Given the description of an element on the screen output the (x, y) to click on. 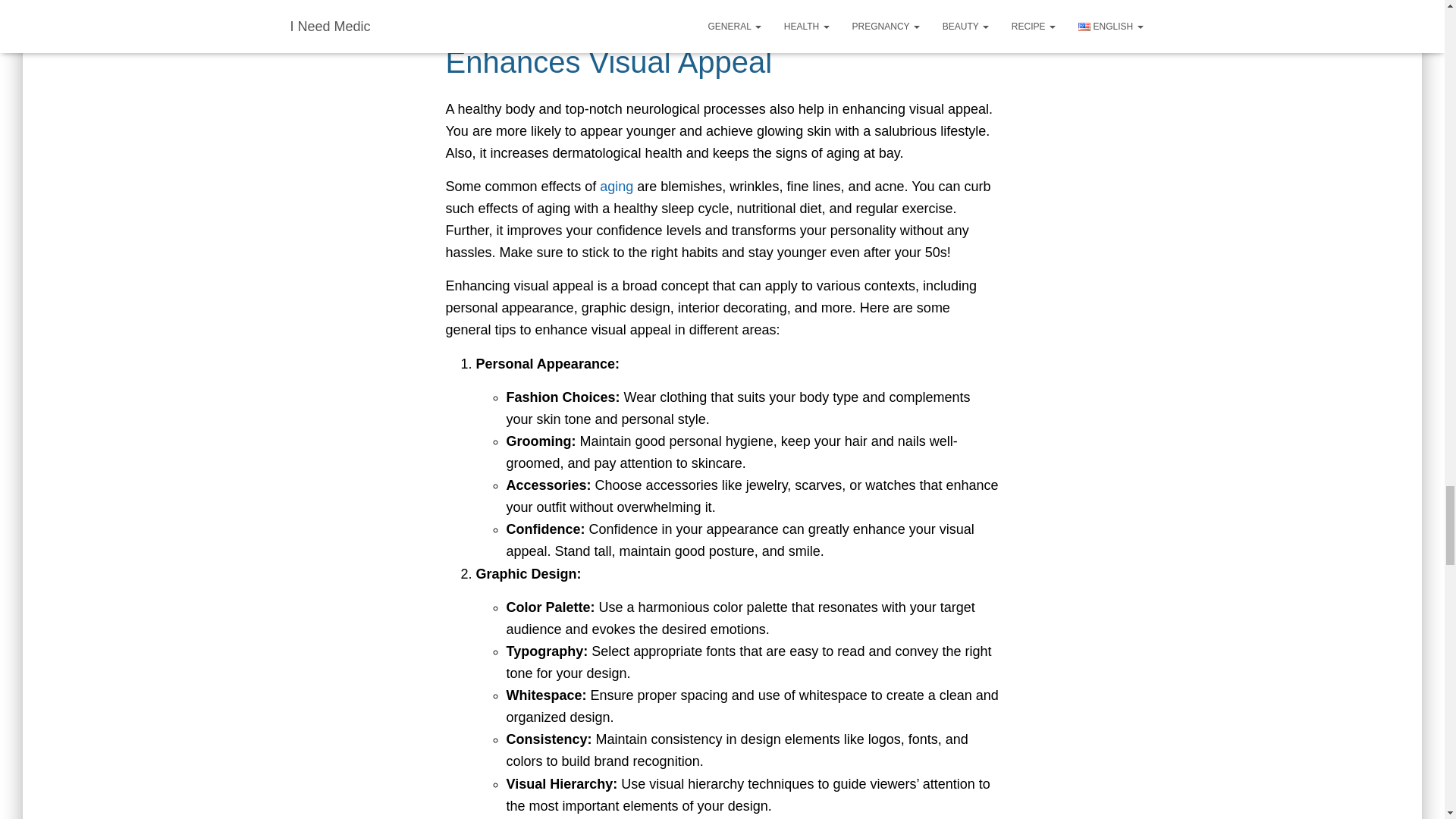
aging (616, 186)
